Given the description of an element on the screen output the (x, y) to click on. 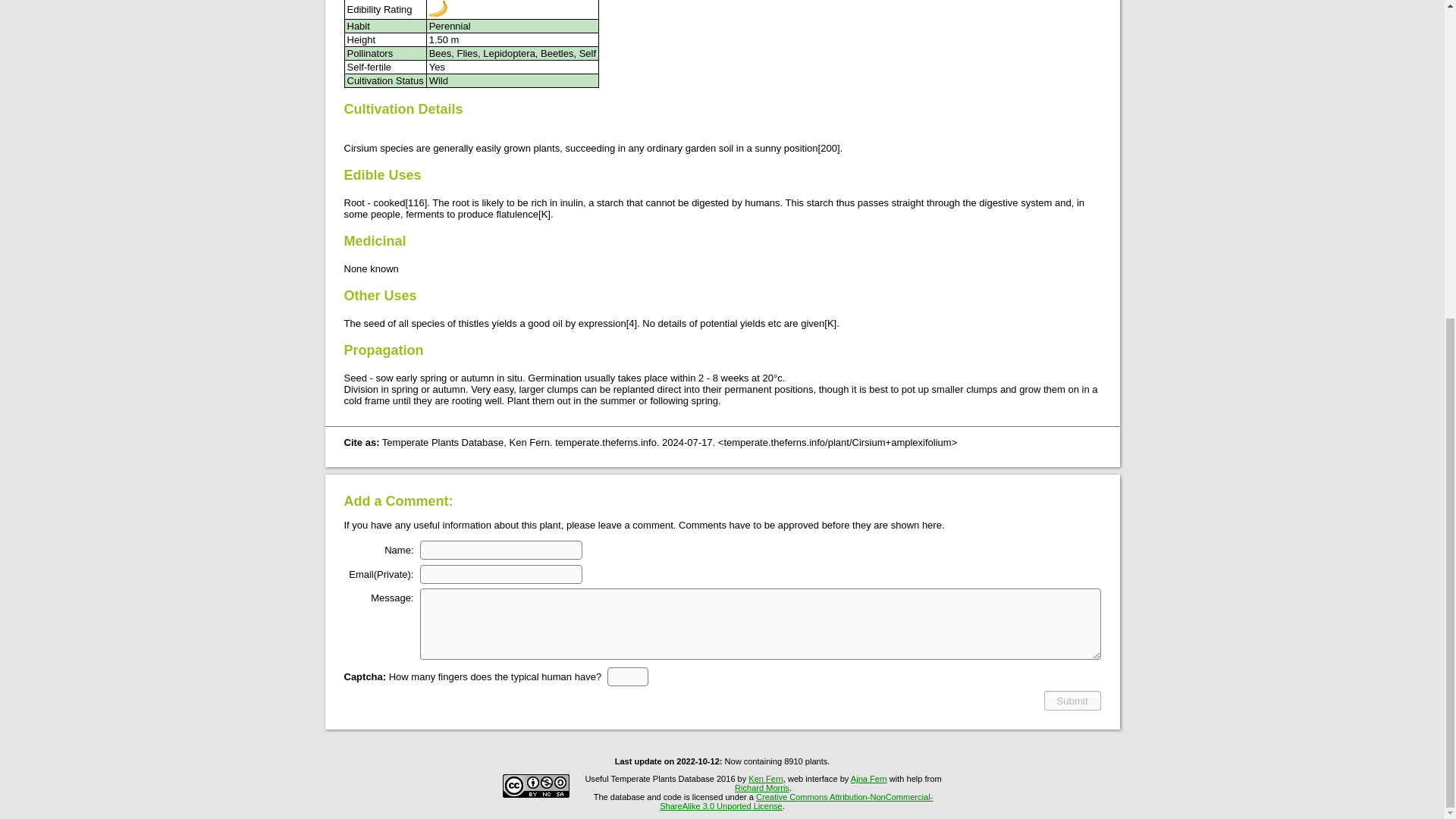
Submit (1071, 700)
Richard Morris (762, 787)
200 (829, 147)
Submit (1071, 700)
K (544, 214)
Ajna Fern (868, 777)
K (830, 323)
116 (416, 202)
4 (630, 323)
Ken Fern (765, 777)
